Given the description of an element on the screen output the (x, y) to click on. 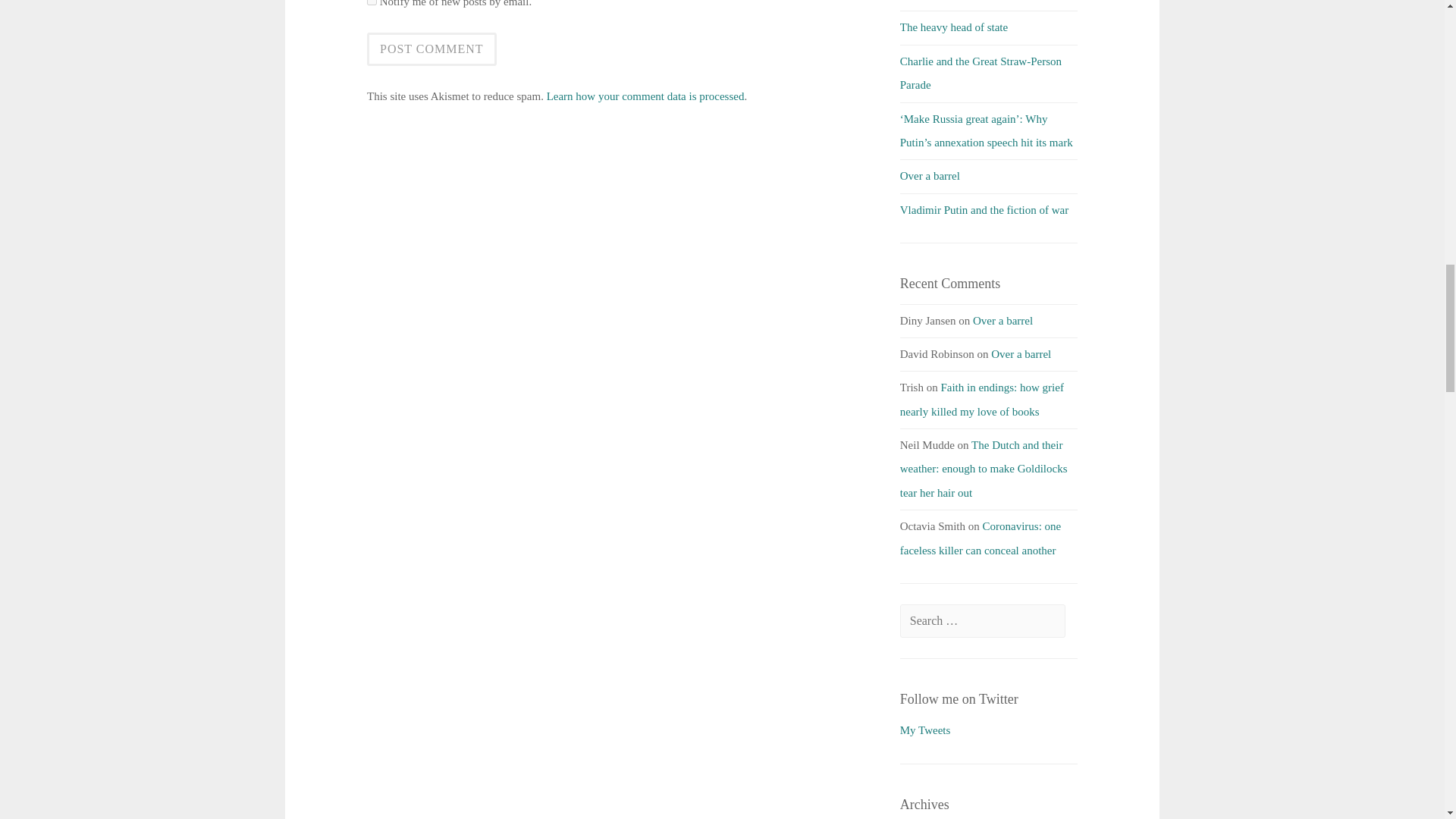
Post Comment (431, 49)
Over a barrel (1021, 354)
Post Comment (431, 49)
Learn how your comment data is processed (645, 96)
Vladimir Putin and the fiction of war (983, 209)
Coronavirus: one faceless killer can conceal another (980, 538)
Faith in endings: how grief nearly killed my love of books (981, 398)
Over a barrel (929, 175)
My Tweets (924, 729)
Charlie and the Great Straw-Person Parade (980, 72)
